Given the description of an element on the screen output the (x, y) to click on. 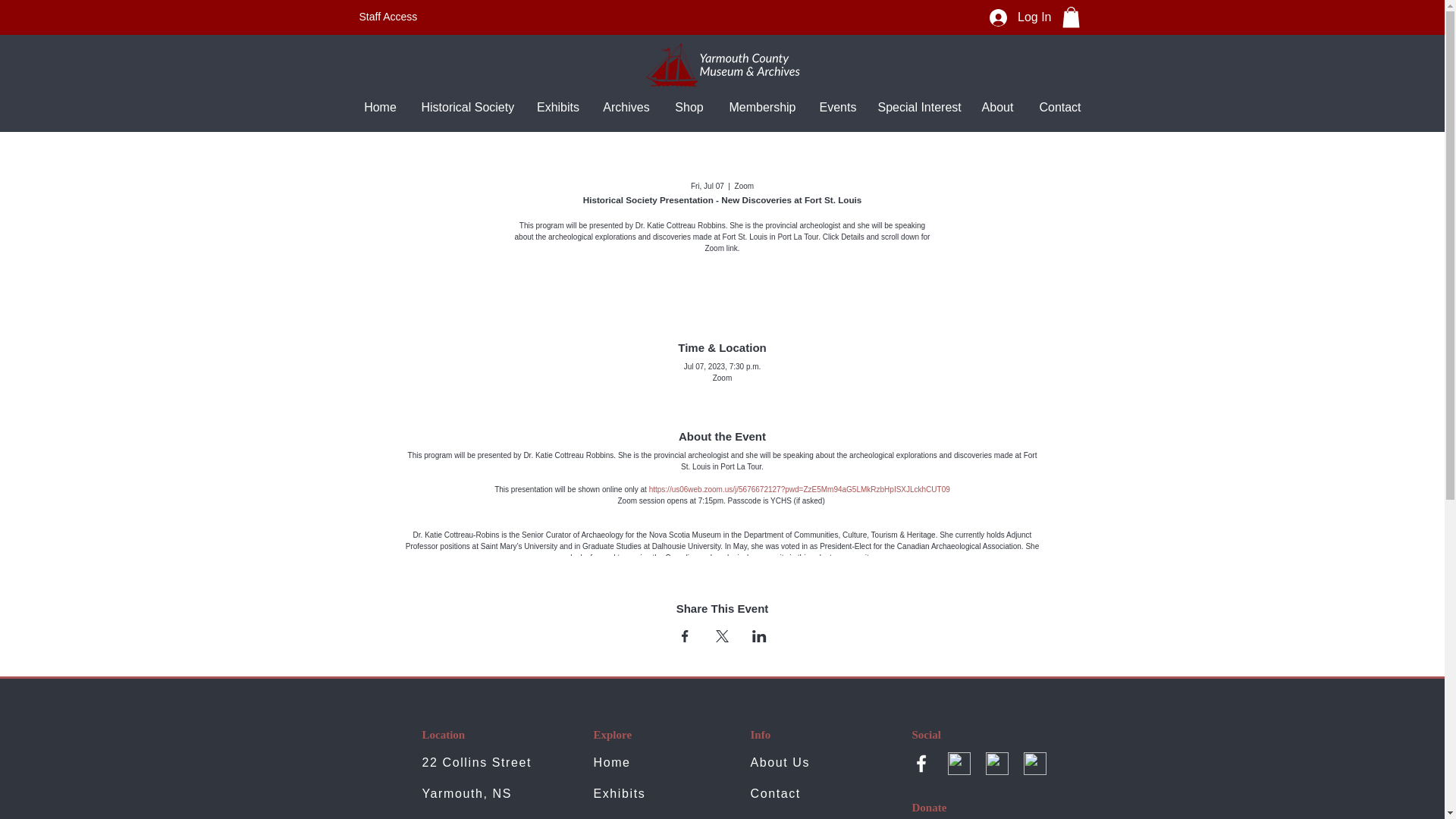
About Us (780, 762)
Exhibits (618, 793)
Membership (762, 105)
Events (837, 105)
Exhibits (557, 105)
Home (611, 762)
Staff Access (388, 16)
Historical Society (466, 105)
Contact (775, 793)
Contact (1060, 105)
